Given the description of an element on the screen output the (x, y) to click on. 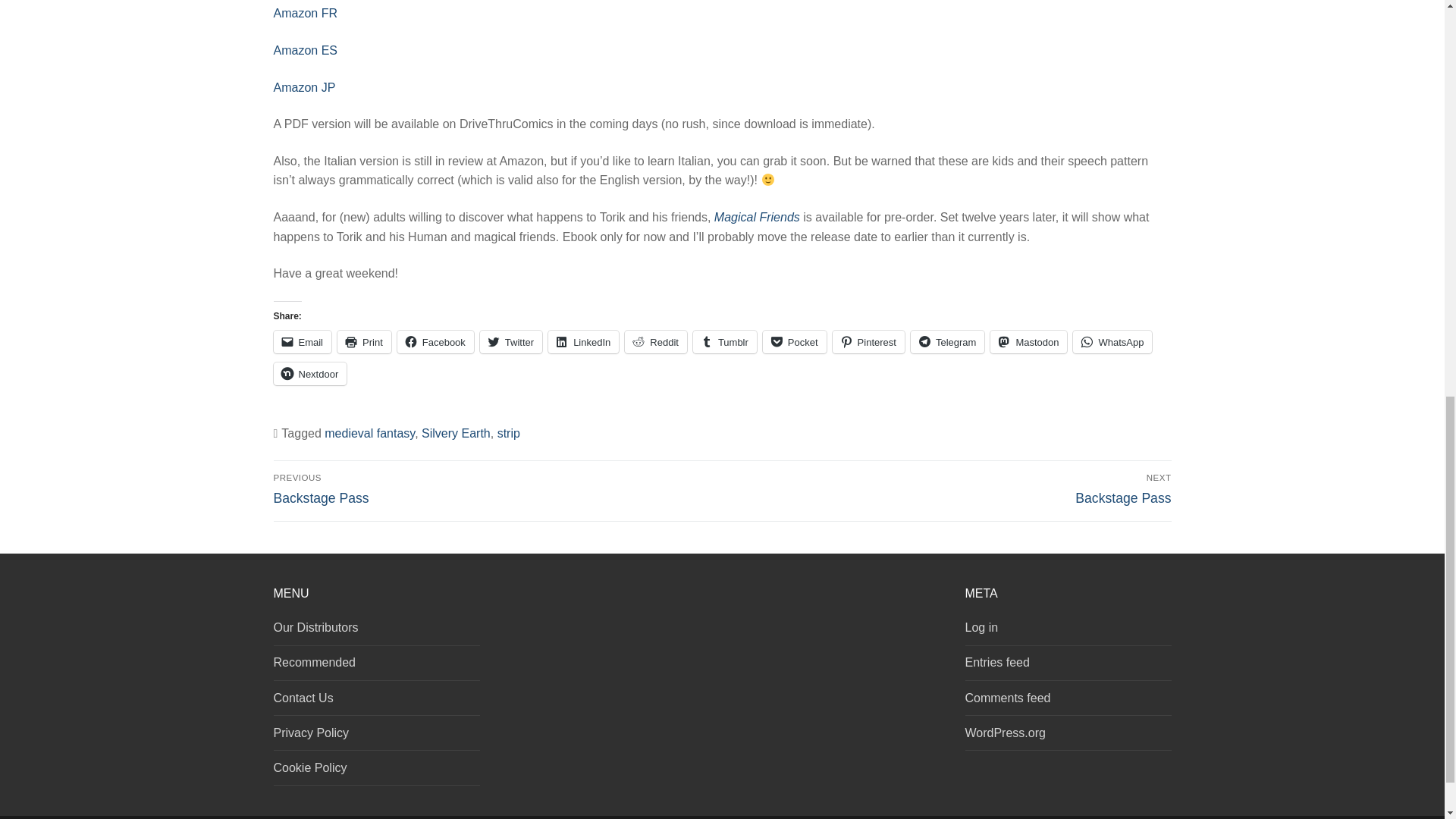
Click to share on Pinterest (868, 341)
Click to share on Reddit (655, 341)
Click to share on Facebook (435, 341)
Click to share on Nextdoor (309, 373)
Amazon FR (304, 12)
Click to share on Tumblr (725, 341)
Click to share on Telegram (947, 341)
Click to share on LinkedIn (583, 341)
Click to email a link to a friend (302, 341)
Click to share on Mastodon (1028, 341)
Click to share on Twitter (510, 341)
Click to share on WhatsApp (1112, 341)
Click to share on Pocket (794, 341)
Click to print (364, 341)
